Given the description of an element on the screen output the (x, y) to click on. 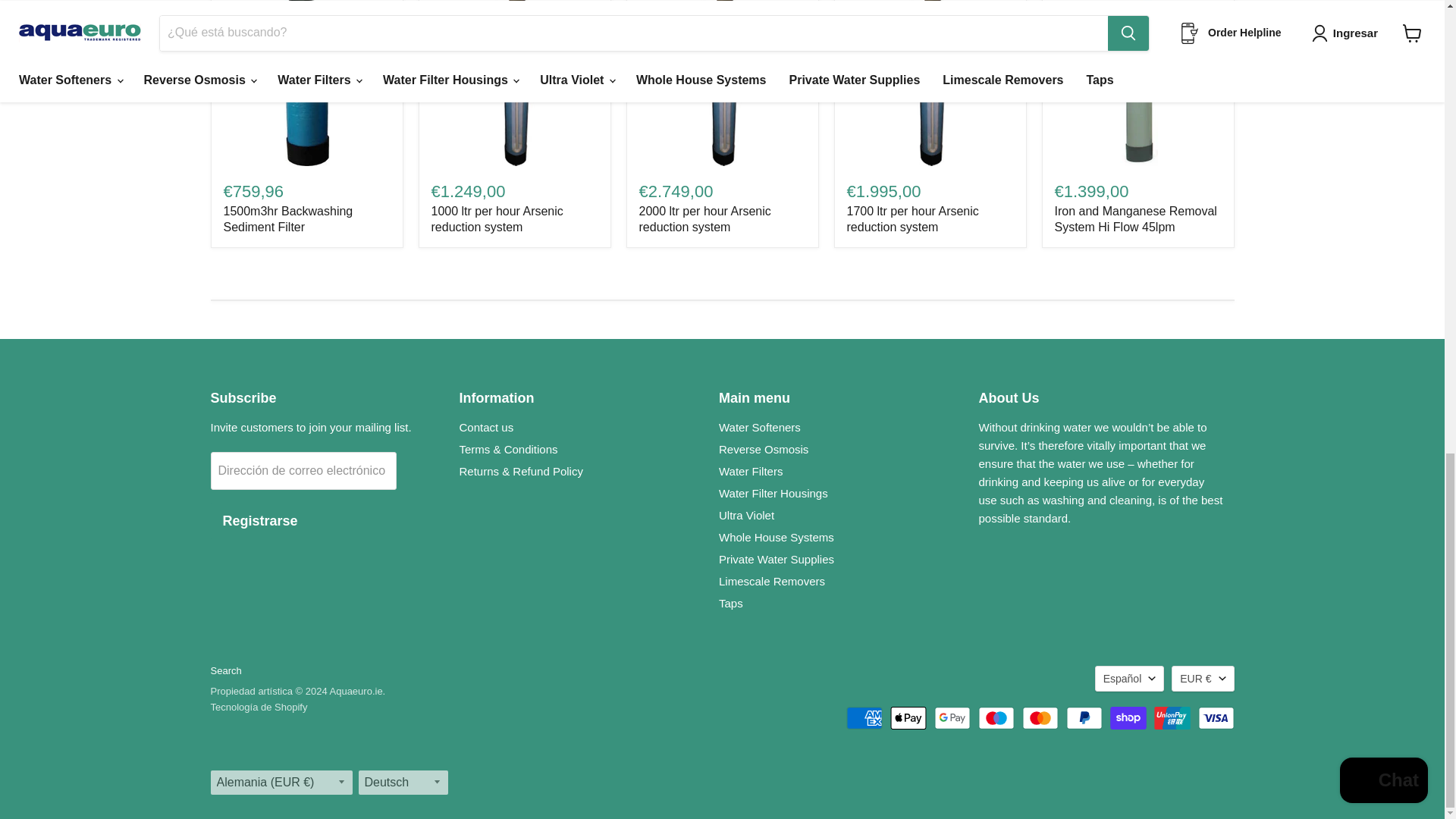
Maestro (996, 717)
Mastercard (1040, 717)
Apple Pay (907, 717)
PayPal (1083, 717)
American Express (863, 717)
Google Pay (952, 717)
